Given the description of an element on the screen output the (x, y) to click on. 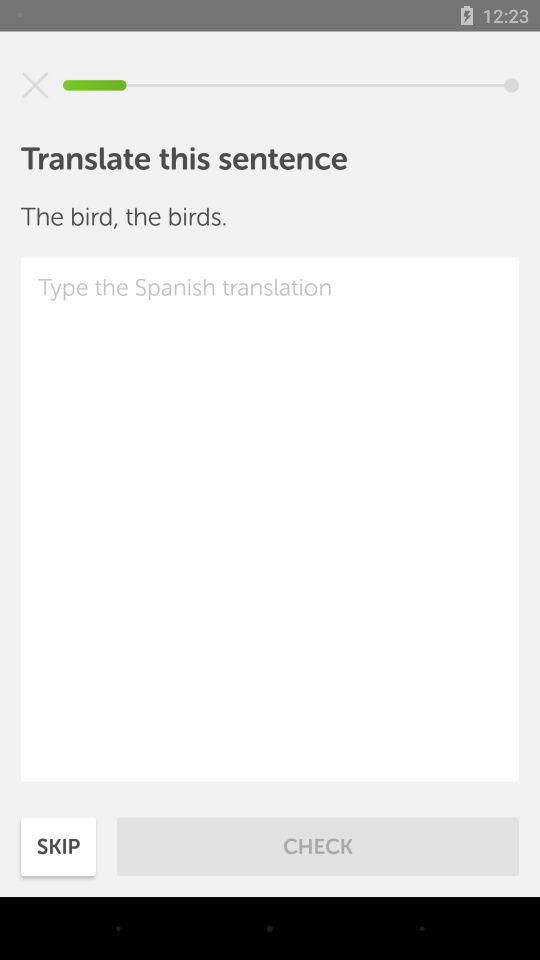
turn on item at the bottom left corner (58, 846)
